Given the description of an element on the screen output the (x, y) to click on. 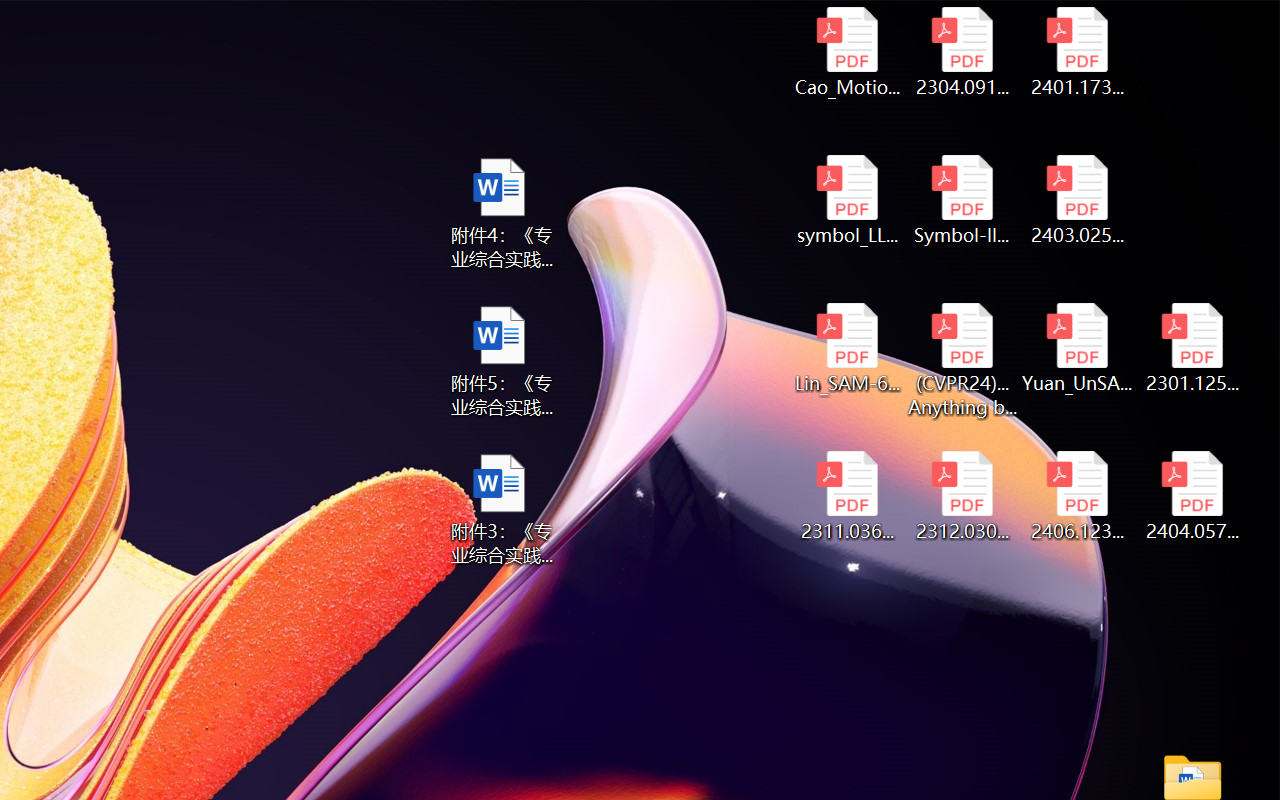
symbol_LLM.pdf (846, 200)
2304.09121v3.pdf (962, 52)
2401.17399v1.pdf (1077, 52)
2403.02502v1.pdf (1077, 200)
Symbol-llm-v2.pdf (962, 200)
2301.12597v3.pdf (1192, 348)
2311.03658v2.pdf (846, 496)
(CVPR24)Matching Anything by Segmenting Anything.pdf (962, 360)
2404.05719v1.pdf (1192, 496)
2312.03032v2.pdf (962, 496)
